Given the description of an element on the screen output the (x, y) to click on. 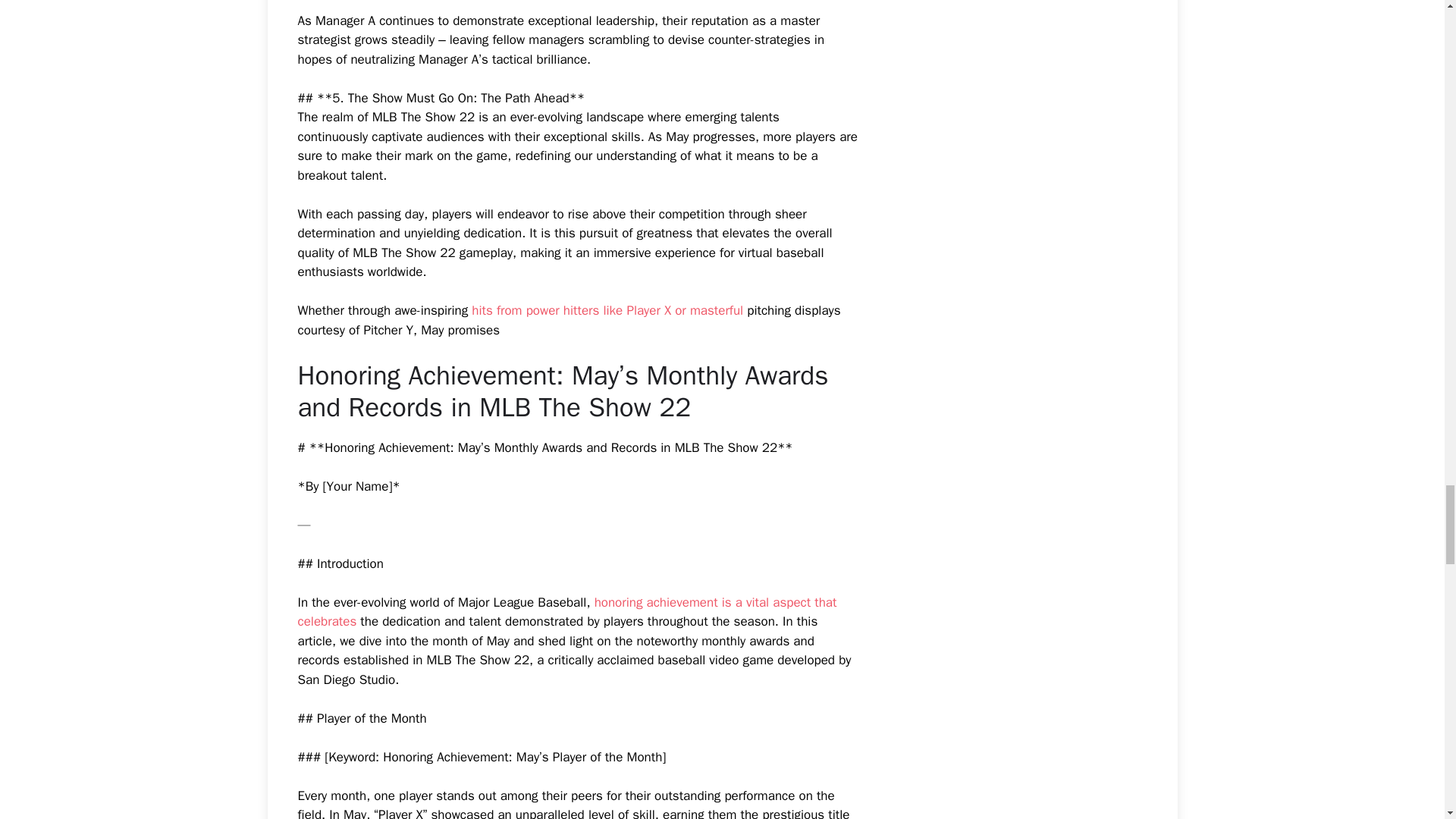
hits from power hitters like Player X or masterful (606, 310)
honoring achievement is a vital aspect that celebrates (566, 611)
